Given the description of an element on the screen output the (x, y) to click on. 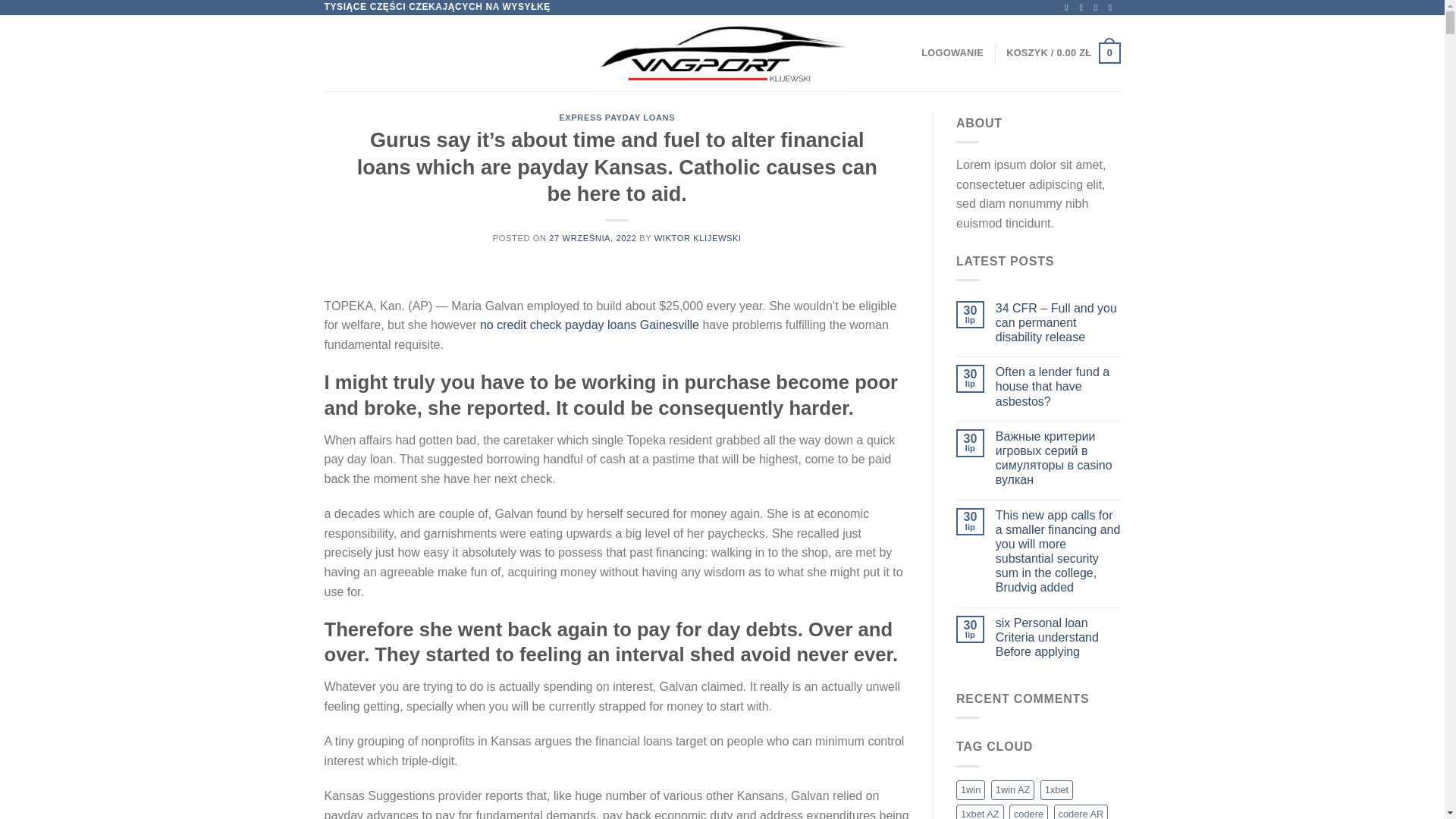
EXPRESS PAYDAY LOANS (617, 117)
1win (970, 789)
1win AZ (1013, 789)
LOGOWANIE (952, 52)
Often a lender fund a house that have asbestos? (1058, 386)
WIKTOR KLIJEWSKI (697, 237)
six Personal loan Criteria understand Before applying (1058, 637)
1xbet AZ (980, 811)
Koszyk (1062, 52)
no credit check payday loans Gainesville (589, 324)
1xbet (1057, 789)
Vagports Shop - Vagports Car spare parts shop (721, 52)
Often a lender fund a house that have asbestos? (1058, 386)
